Given the description of an element on the screen output the (x, y) to click on. 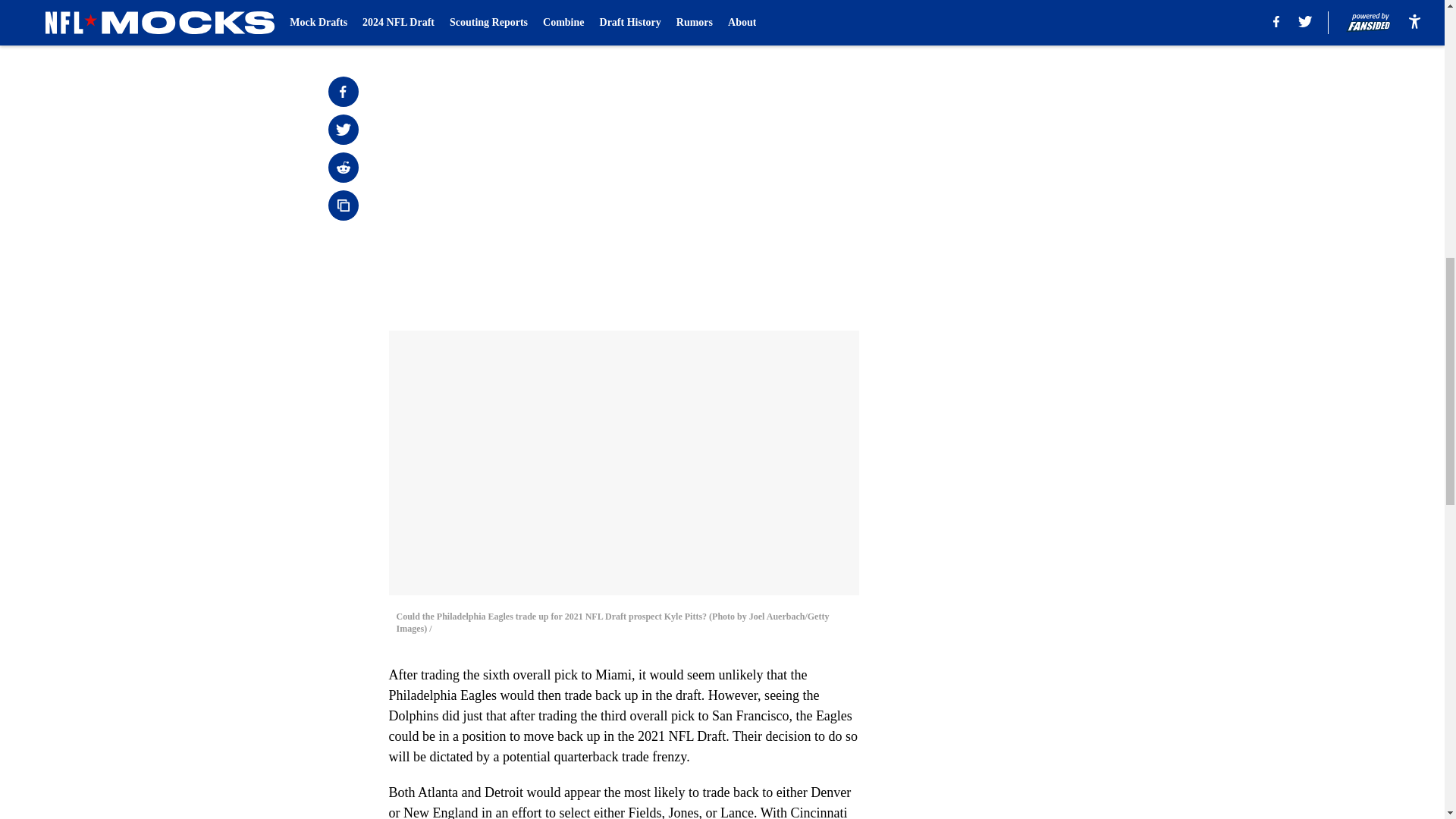
Prev (433, 20)
Next (813, 20)
